Given the description of an element on the screen output the (x, y) to click on. 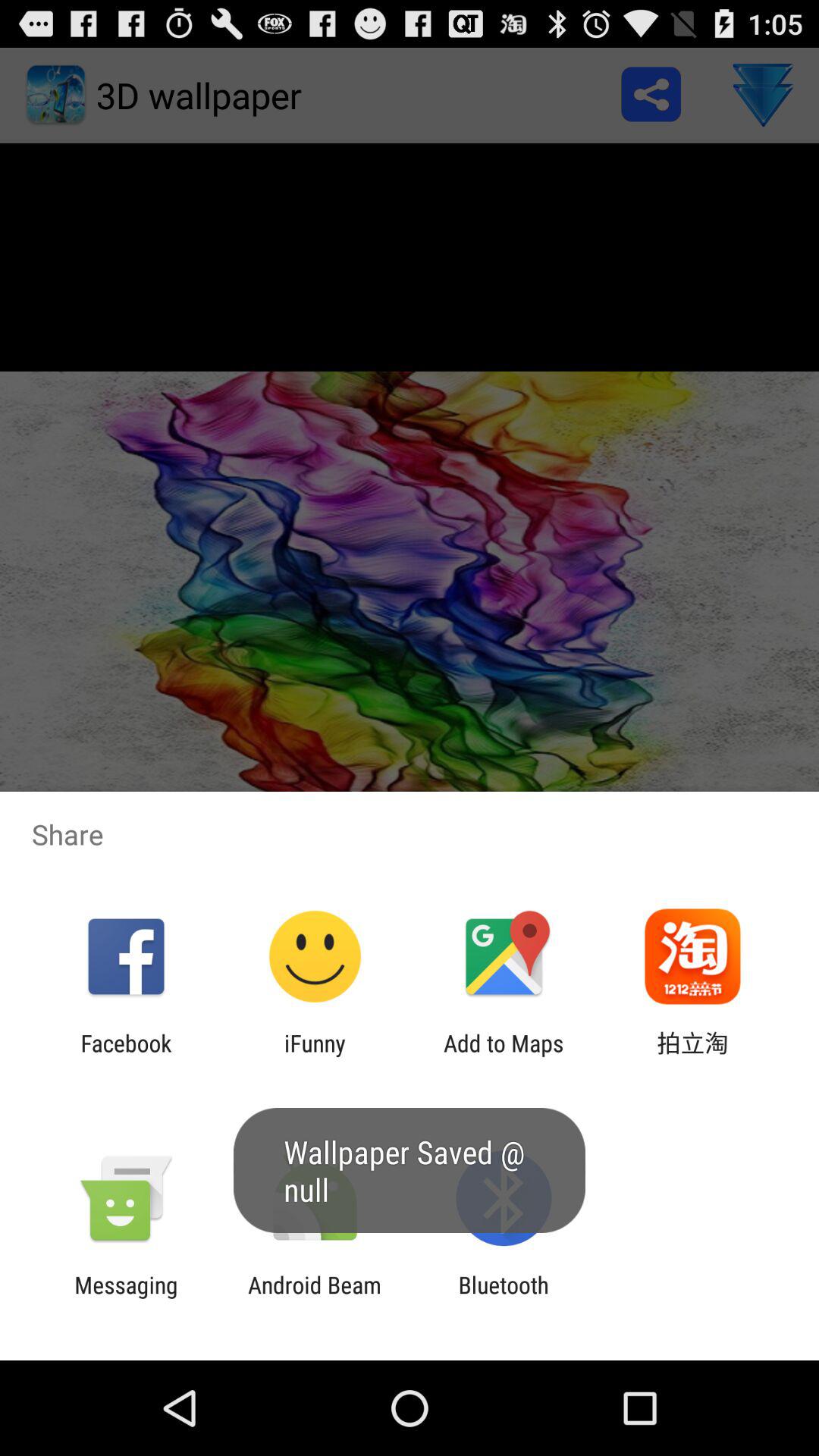
press app next to facebook app (314, 1056)
